Given the description of an element on the screen output the (x, y) to click on. 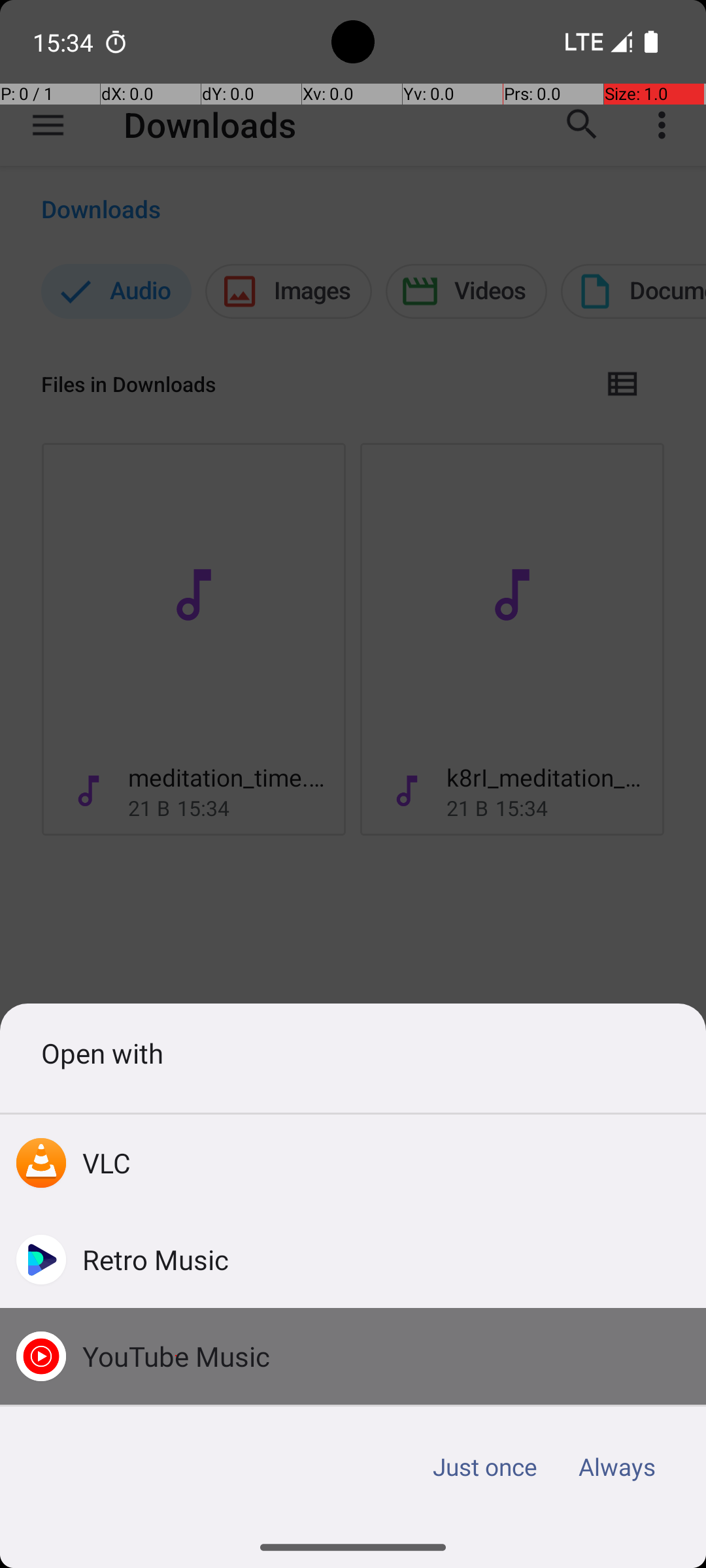
Open with Element type: android.widget.TextView (352, 1052)
YouTube Music Element type: android.widget.TextView (175, 1355)
